Given the description of an element on the screen output the (x, y) to click on. 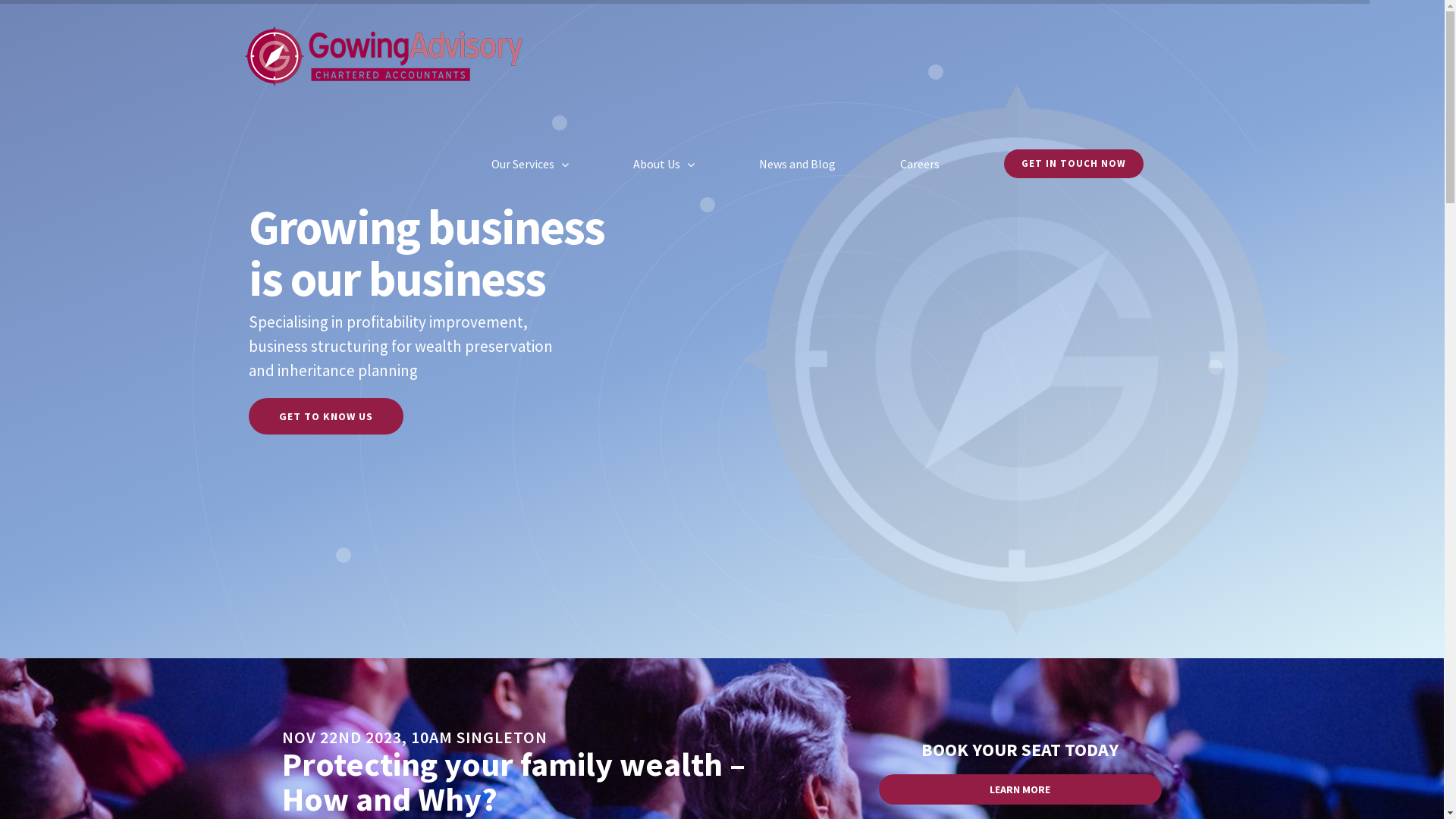
GET IN TOUCH NOW Element type: text (1073, 163)
About Us Element type: text (662, 163)
LEARN MORE Element type: text (1019, 789)
Our Services Element type: text (529, 163)
Careers Element type: text (918, 163)
News and Blog Element type: text (796, 163)
